Given the description of an element on the screen output the (x, y) to click on. 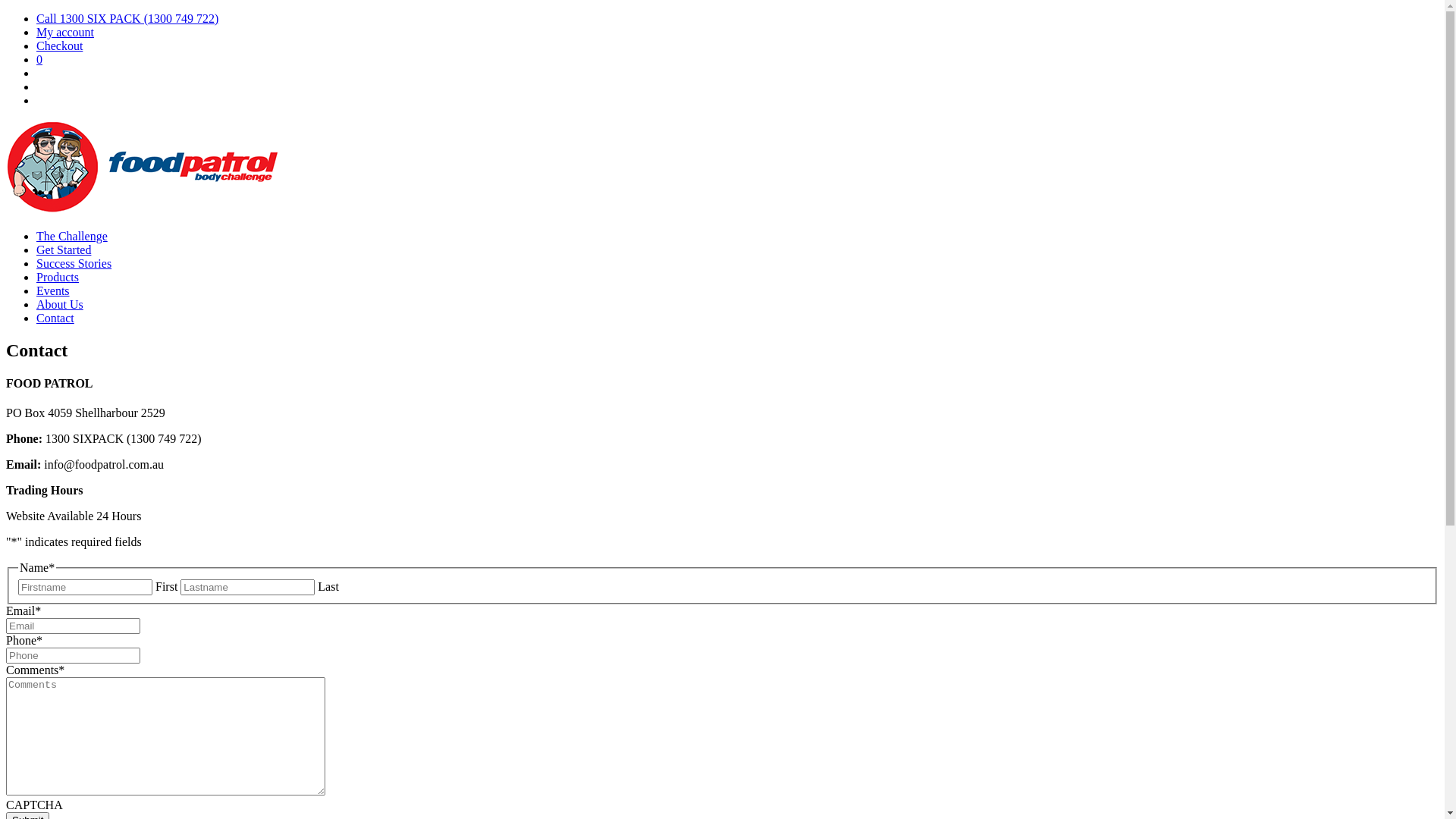
Success Stories Element type: text (73, 263)
The Challenge Element type: text (71, 235)
Get Started Element type: text (63, 249)
Products Element type: text (57, 276)
Food Patrol Element type: hover (142, 209)
Contact Element type: text (55, 317)
My account Element type: text (65, 31)
About Us Element type: text (59, 304)
Checkout Element type: text (59, 45)
0 Element type: text (39, 59)
Events Element type: text (52, 290)
Call 1300 SIX PACK (1300 749 722) Element type: text (127, 18)
